Given the description of an element on the screen output the (x, y) to click on. 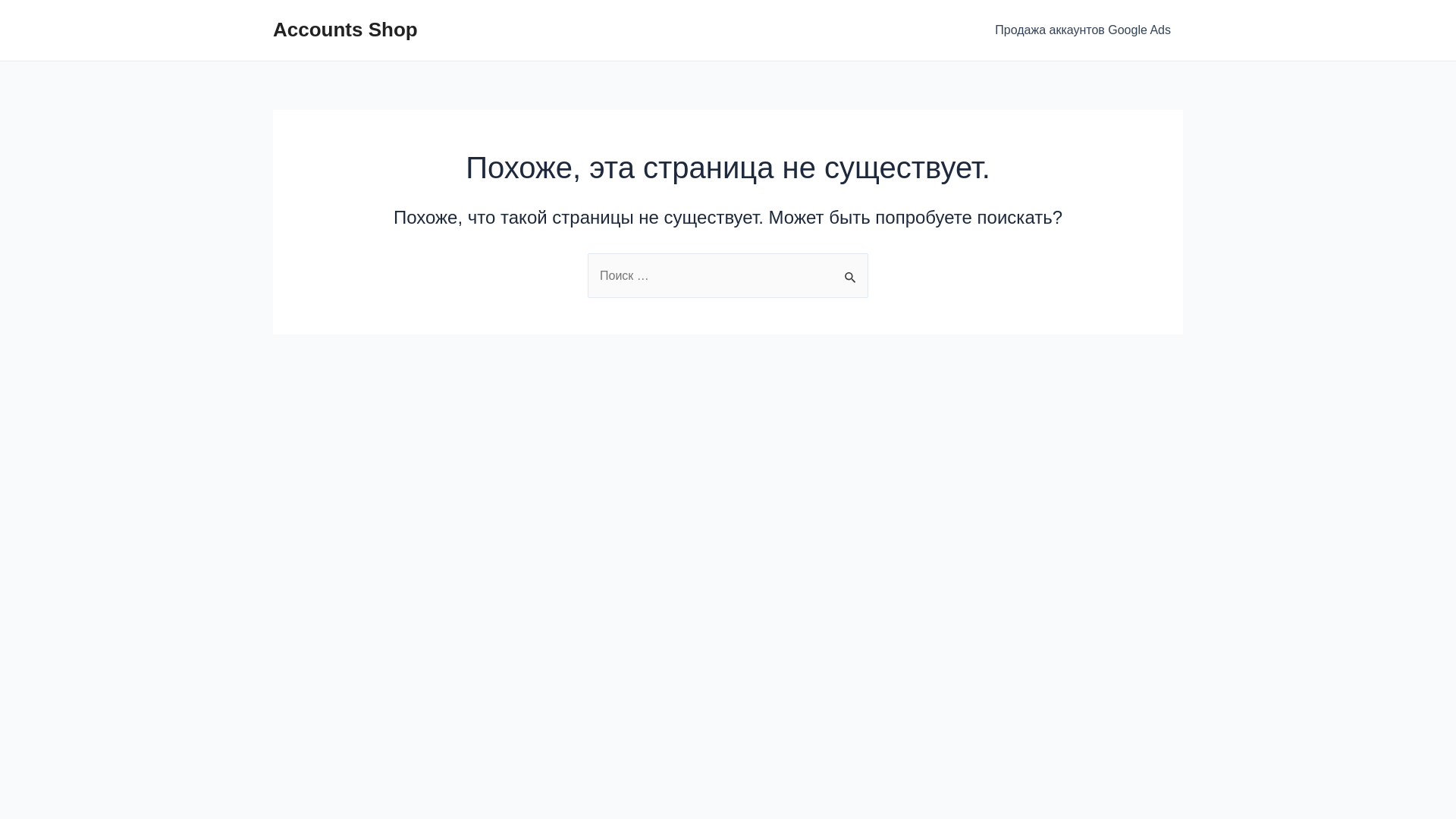
Accounts Shop Element type: text (345, 29)
